Given the description of an element on the screen output the (x, y) to click on. 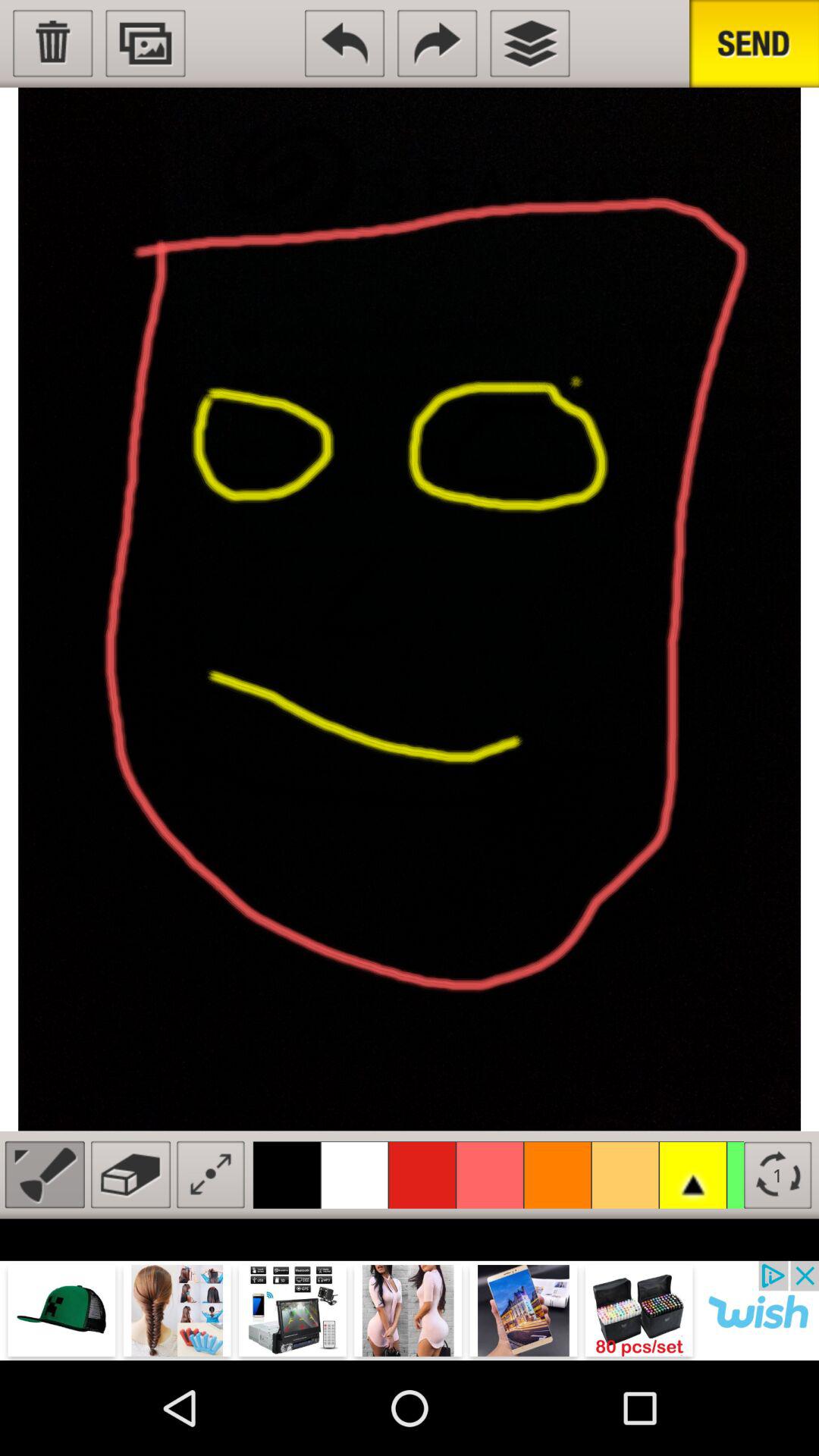
toggle eraser tool (130, 1174)
